Given the description of an element on the screen output the (x, y) to click on. 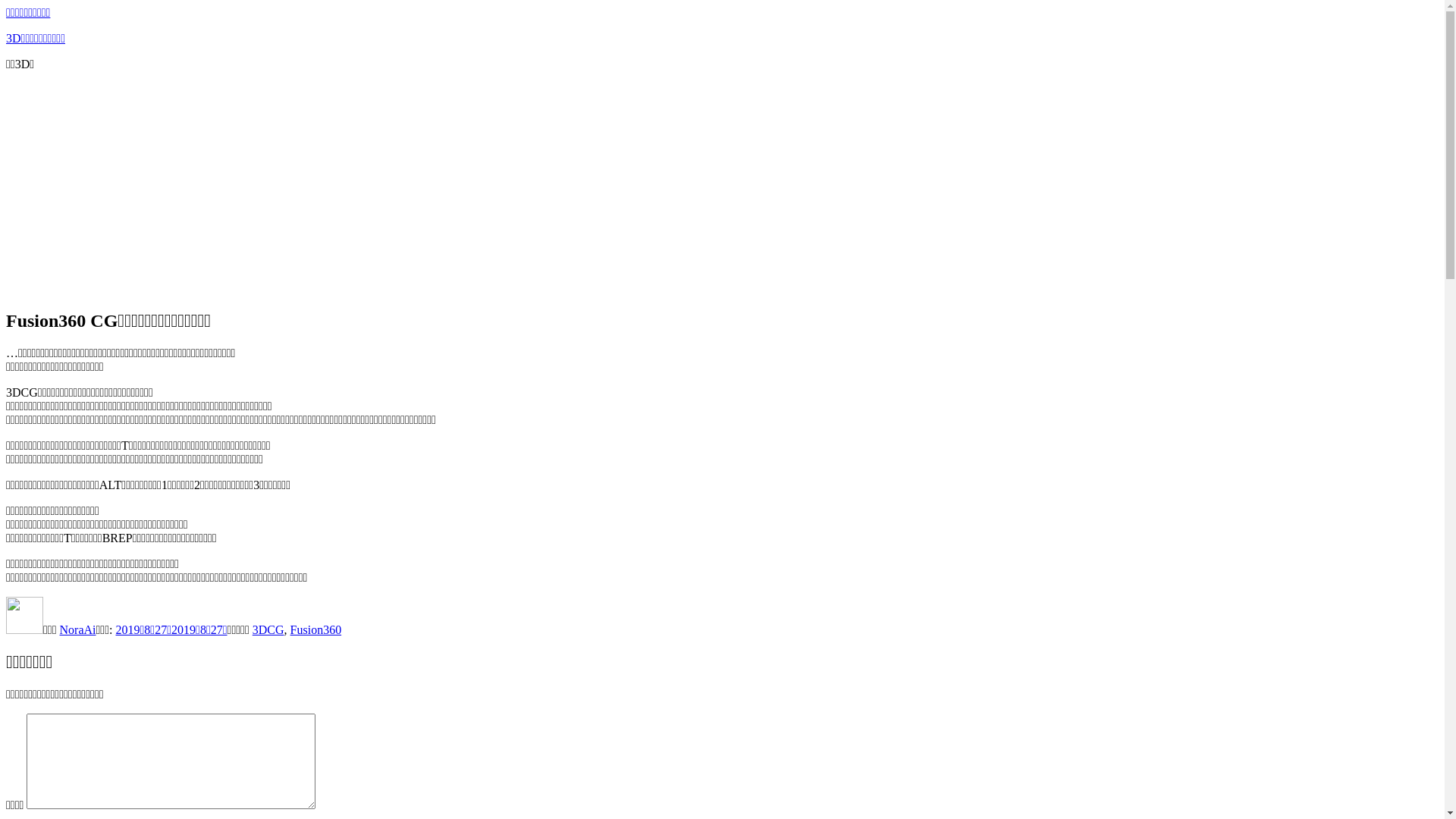
Advertisement Element type: hover (721, 189)
3DCG Element type: text (268, 629)
Fusion360 Element type: text (316, 629)
NoraAi Element type: text (77, 629)
